Given the description of an element on the screen output the (x, y) to click on. 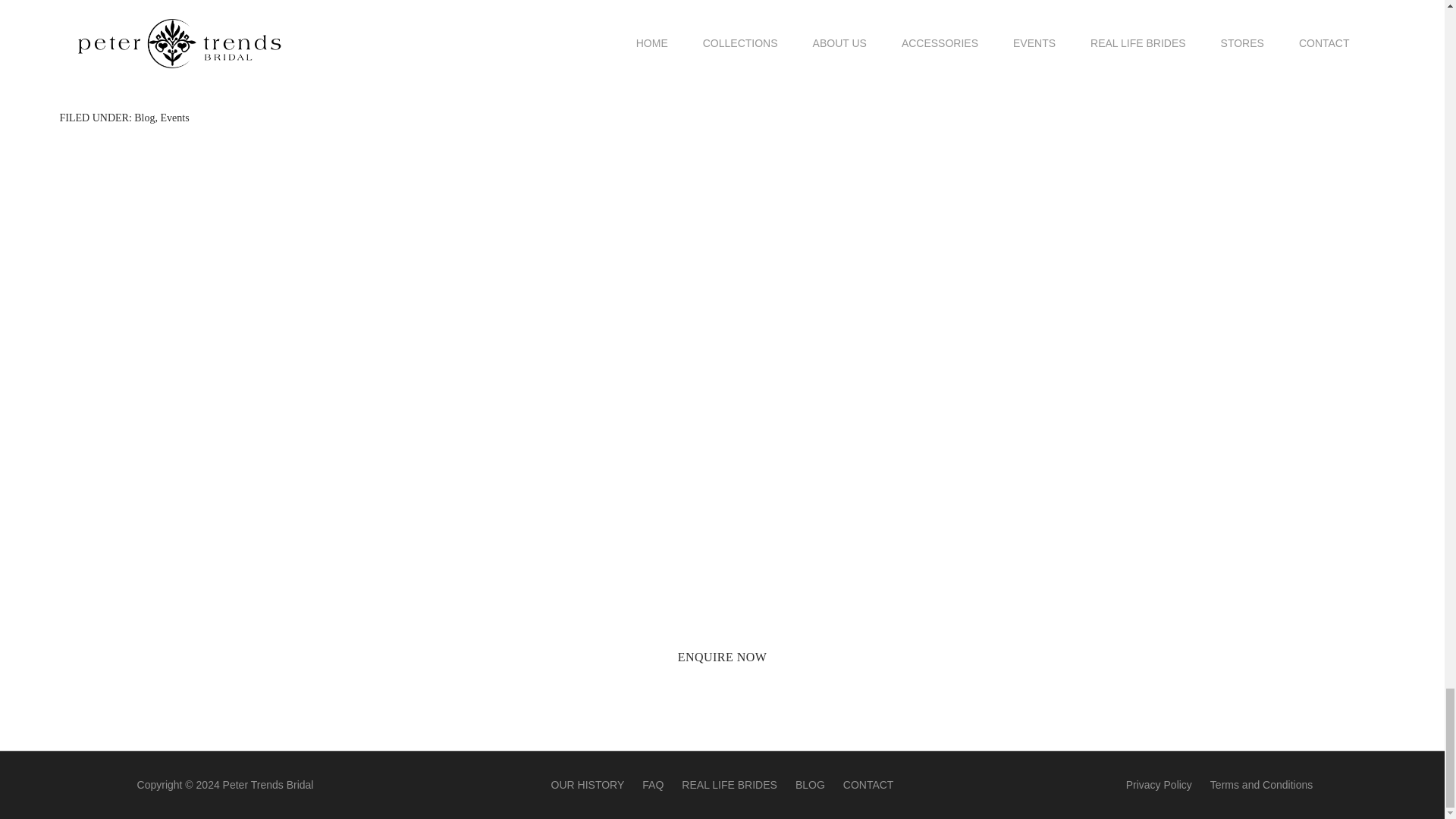
Contact (722, 656)
ENQUIRE NOW (722, 656)
Blog (143, 117)
Share this (77, 58)
Pin this (154, 58)
Tweet this (117, 58)
Events (174, 117)
